Given the description of an element on the screen output the (x, y) to click on. 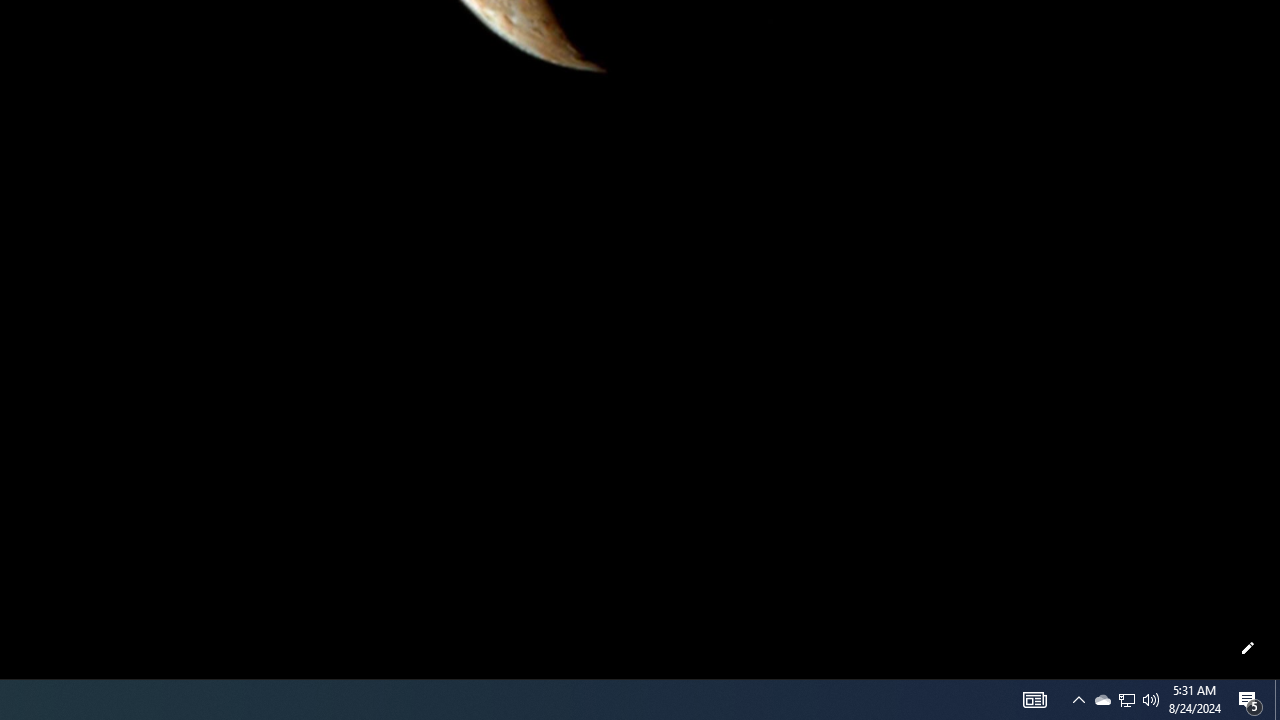
Customize this page (1247, 647)
